Given the description of an element on the screen output the (x, y) to click on. 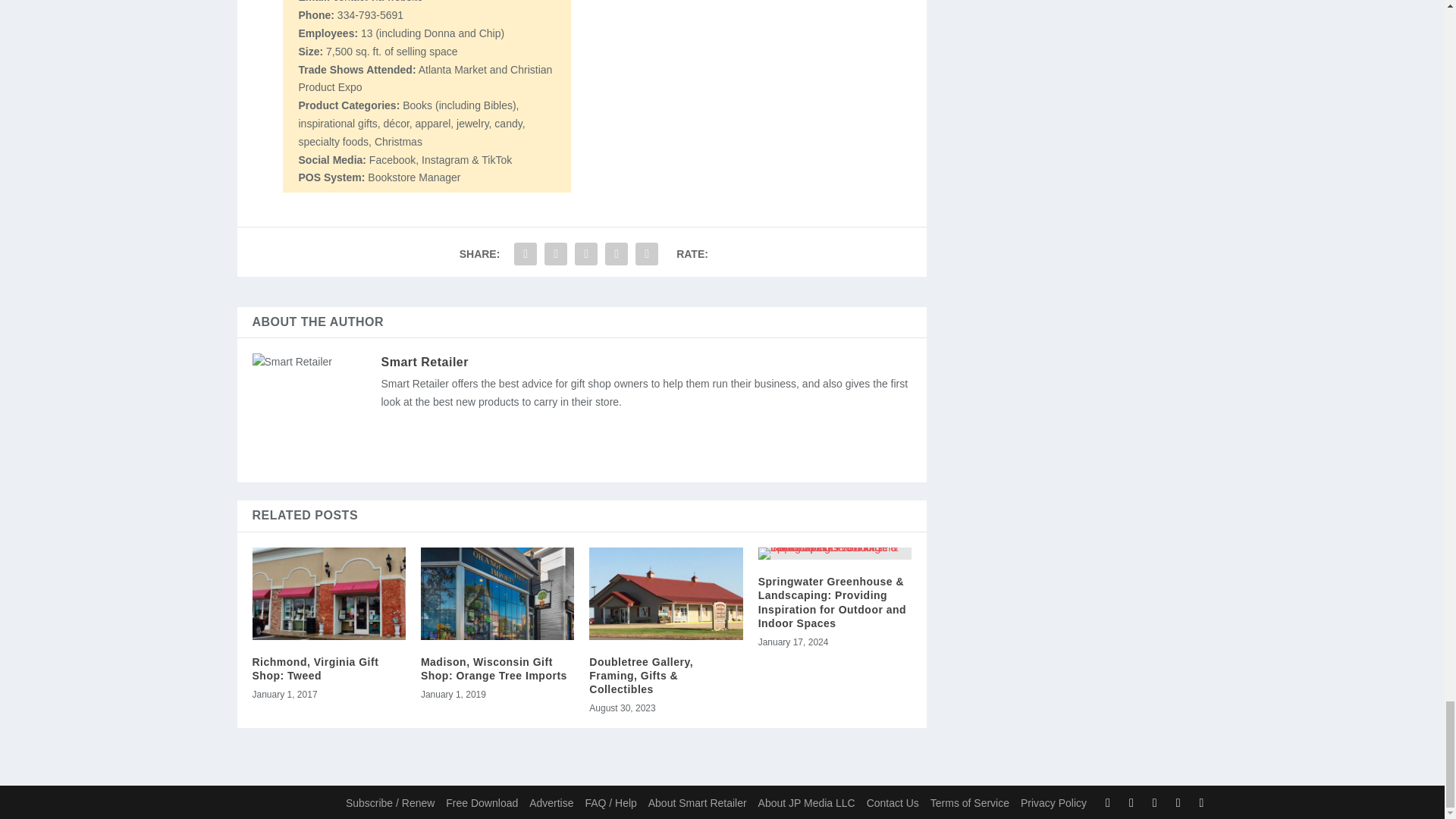
Share "Dove Christian Supply" via Pinterest (585, 254)
Share "Dove Christian Supply" via Twitter (555, 254)
Richmond, Virginia Gift Shop: Tweed (327, 593)
Smart Retailer (424, 361)
Madison, Wisconsin Gift Shop: Orange Tree Imports (493, 668)
View all posts by Smart Retailer (424, 361)
Share "Dove Christian Supply" via Email (616, 254)
Madison, Wisconsin Gift Shop: Orange Tree Imports (496, 593)
Richmond, Virginia Gift Shop: Tweed (314, 668)
Share "Dove Christian Supply" via Print (646, 254)
